Given the description of an element on the screen output the (x, y) to click on. 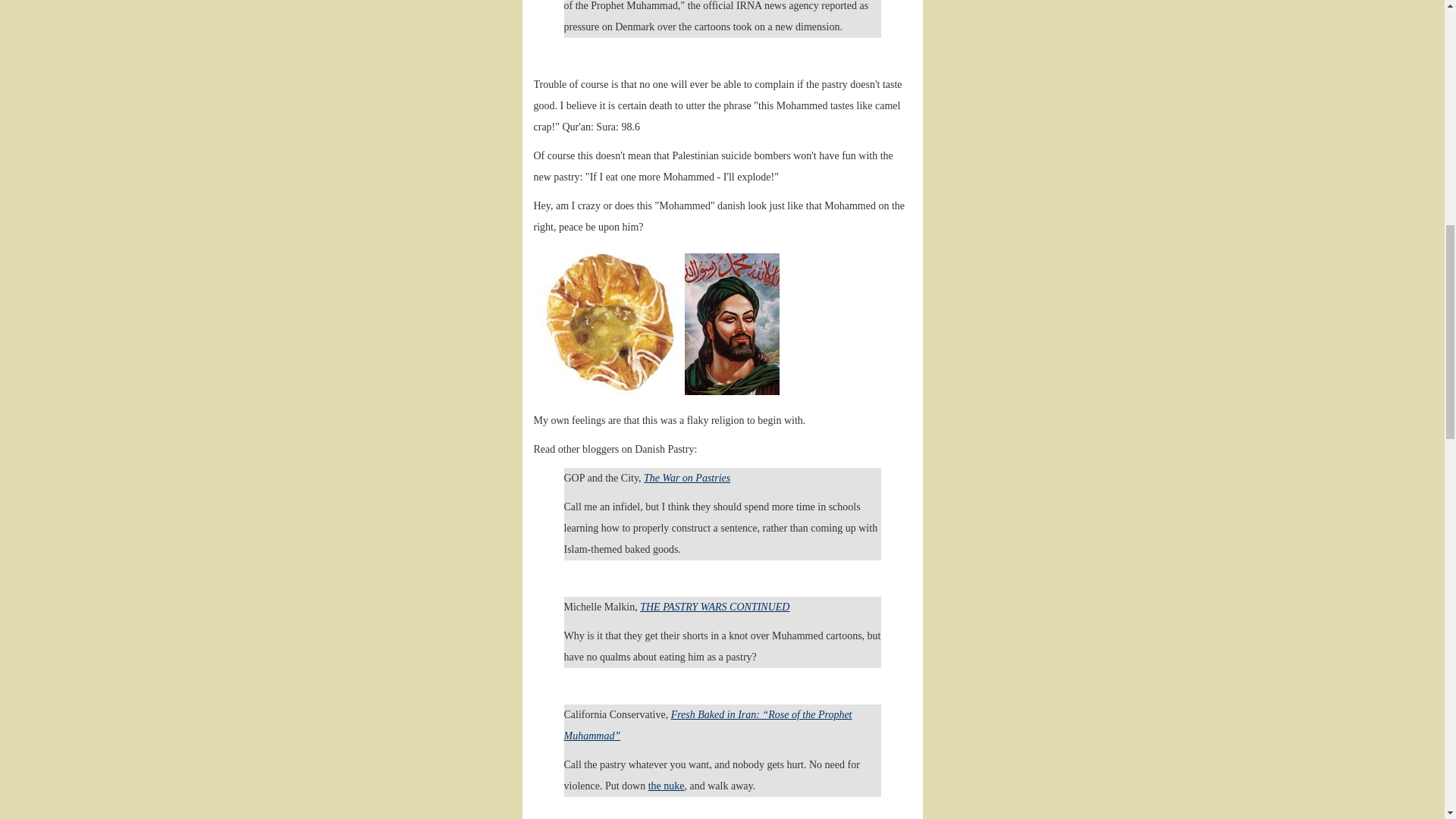
The War on Pastries (686, 478)
THE PASTRY WARS CONTINUED (714, 606)
the nuke (665, 785)
